Given the description of an element on the screen output the (x, y) to click on. 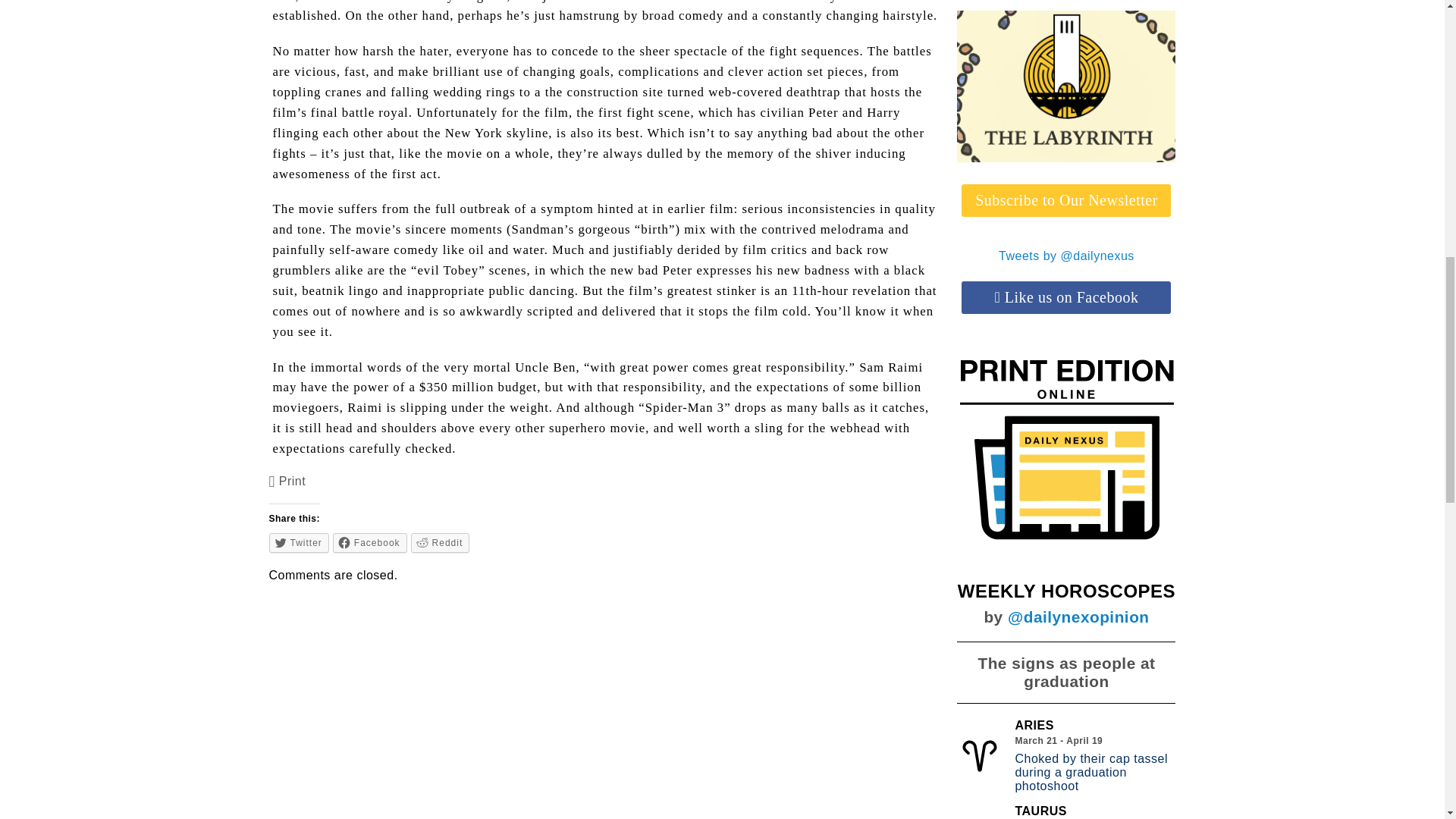
Click to share on Reddit (440, 542)
Click to share on Twitter (299, 542)
Click to share on Facebook (370, 542)
